Given the description of an element on the screen output the (x, y) to click on. 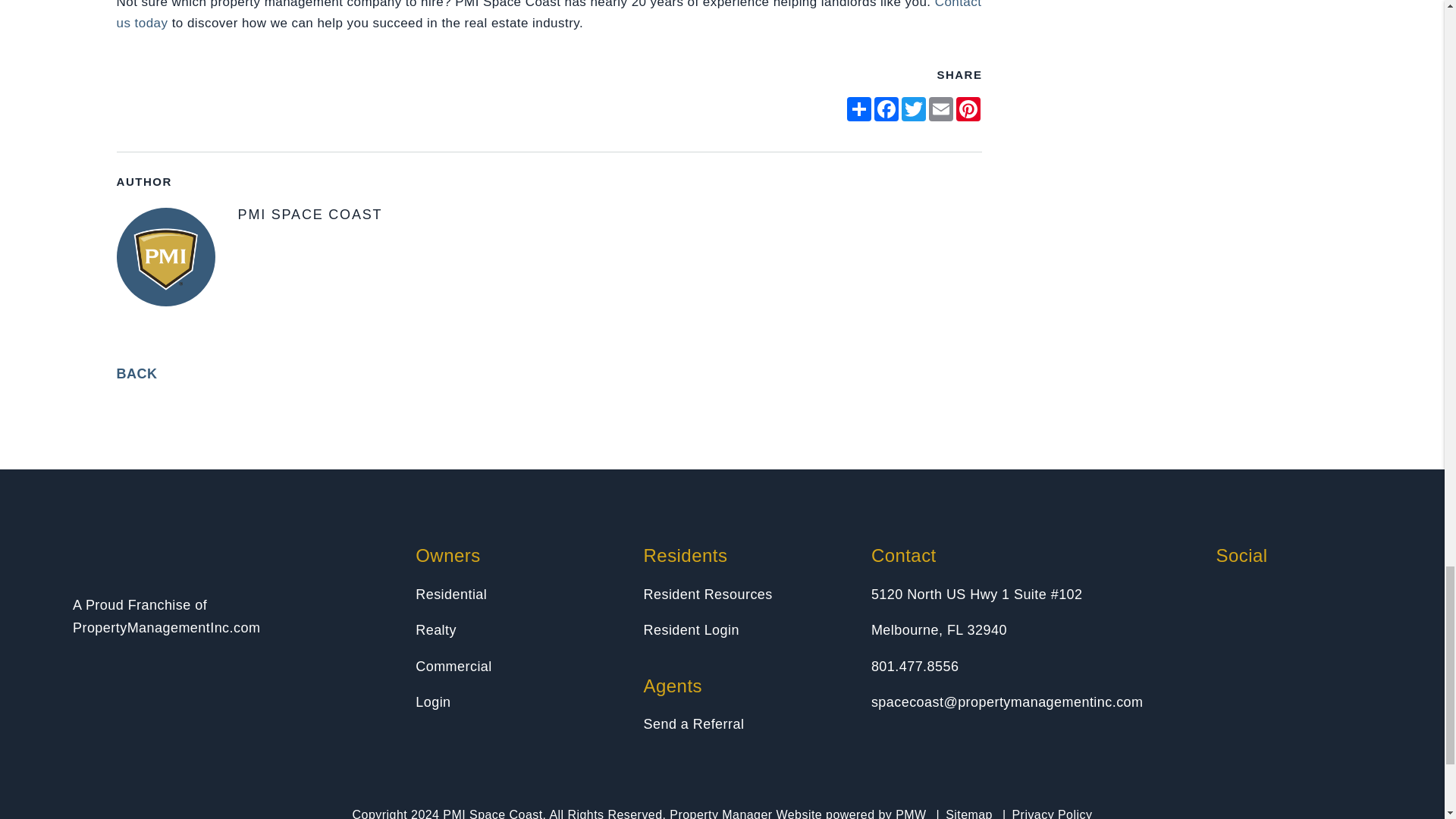
opens in new window (913, 109)
opens in new window (941, 109)
opens in new window (885, 109)
opens in new window (858, 109)
opens in new window (968, 109)
